Given the description of an element on the screen output the (x, y) to click on. 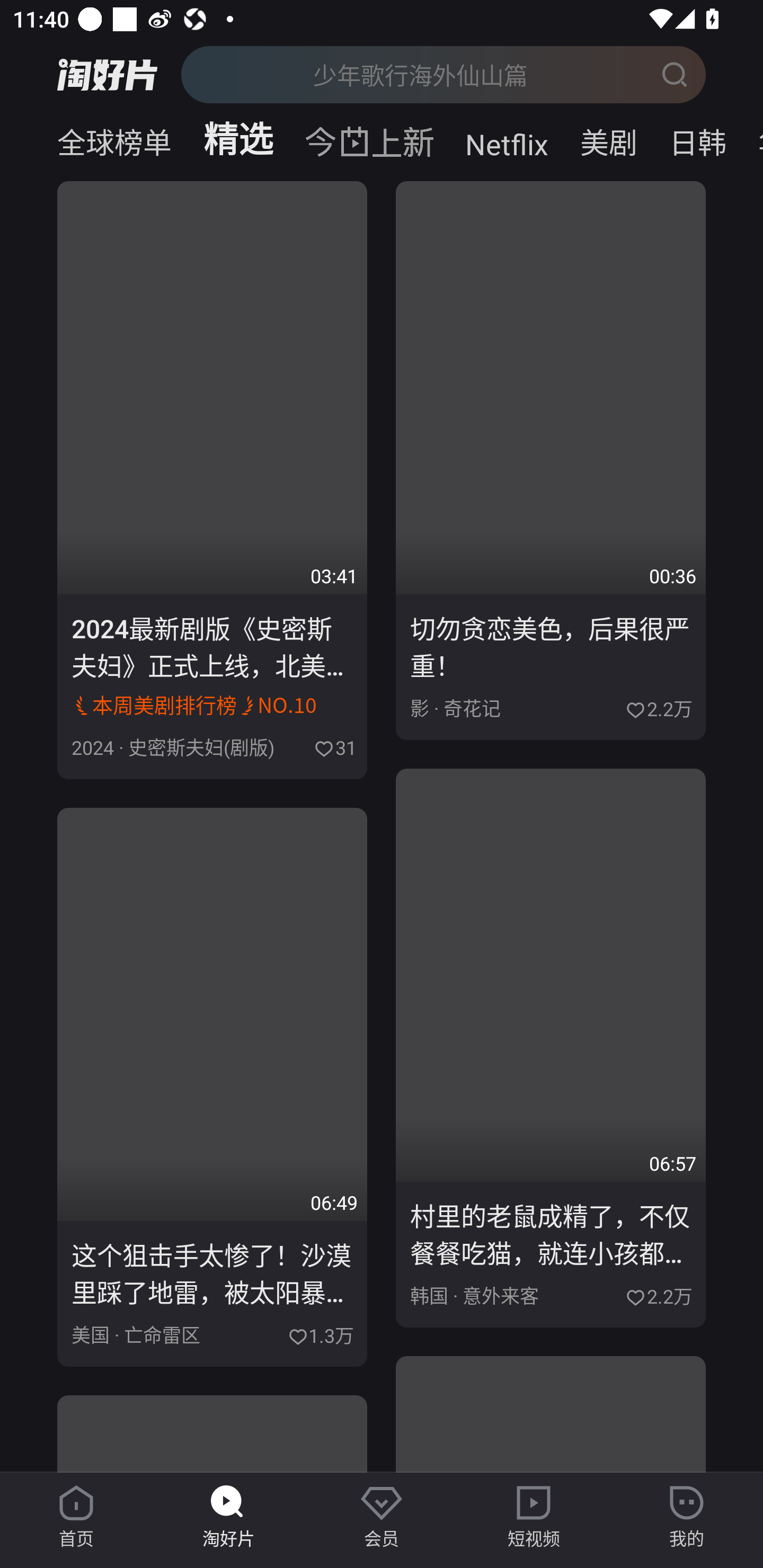
搜索框，少年歌行海外仙山篇 少年歌行海外仙山篇  (443, 74)
全球榜单 (93, 139)
精选 (238, 139)
今日上新 (369, 136)
Netflix (506, 139)
美剧 (608, 139)
日韩 (697, 139)
00:36 切勿贪恋美色，后果很严重！ 影 · 奇花记  2.2万 (550, 460)
 2.2万 (657, 707)
 31 (332, 746)
06:57 村里的老鼠成精了，不仅餐餐吃猫，就连小孩都不放过！ 韩国 · 意外来客  2.2万 (550, 1048)
 2.2万 (657, 1293)
 1.3万 (319, 1332)
首页 (76, 1516)
淘好片 (228, 1516)
会员 (381, 1516)
短视频 (533, 1516)
我的 (686, 1516)
